Given the description of an element on the screen output the (x, y) to click on. 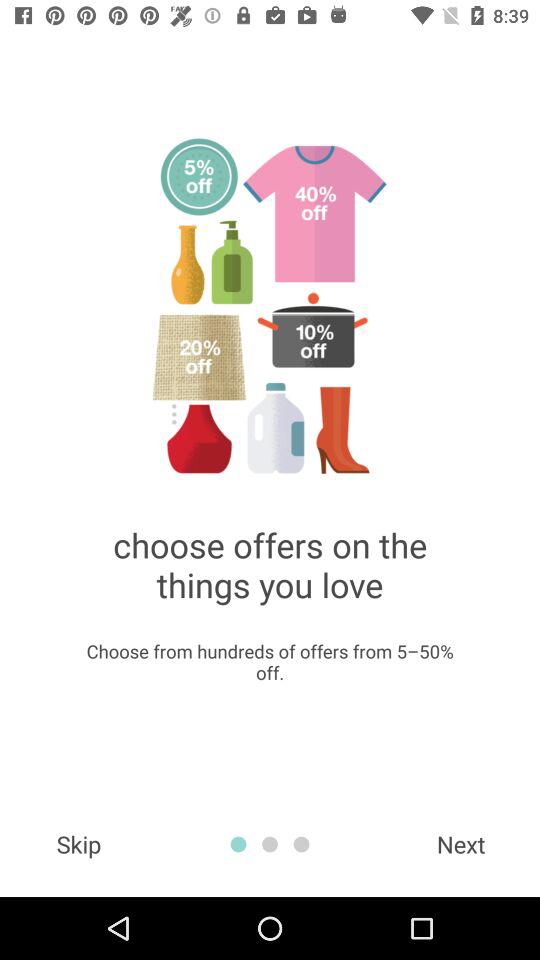
flip until the skip (78, 844)
